Given the description of an element on the screen output the (x, y) to click on. 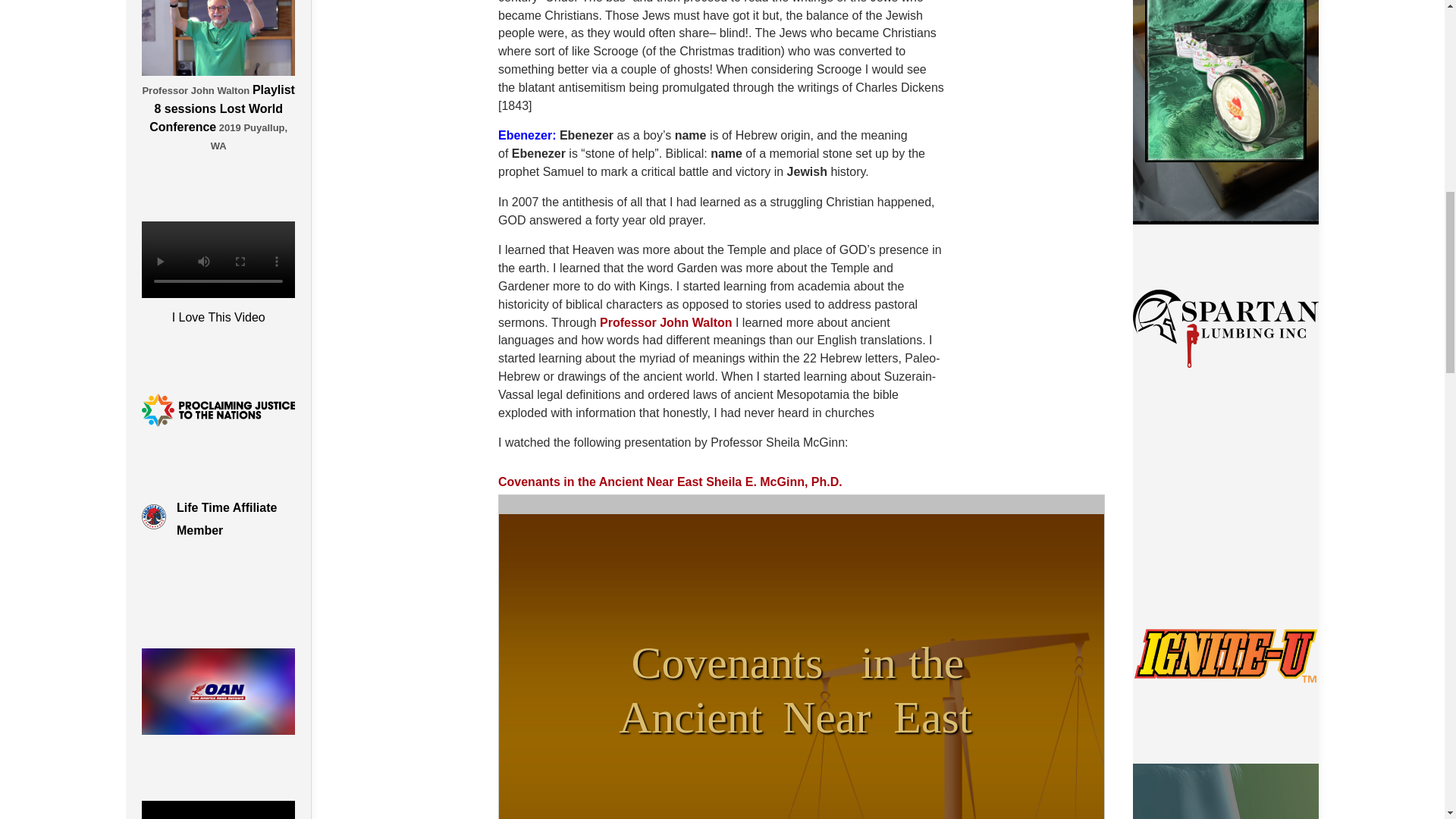
Covenants in the Ancient Near East Sheila E. McGinn, Ph.D. (670, 481)
5 Microns Inc. Commercial Video (1225, 497)
